Given the description of an element on the screen output the (x, y) to click on. 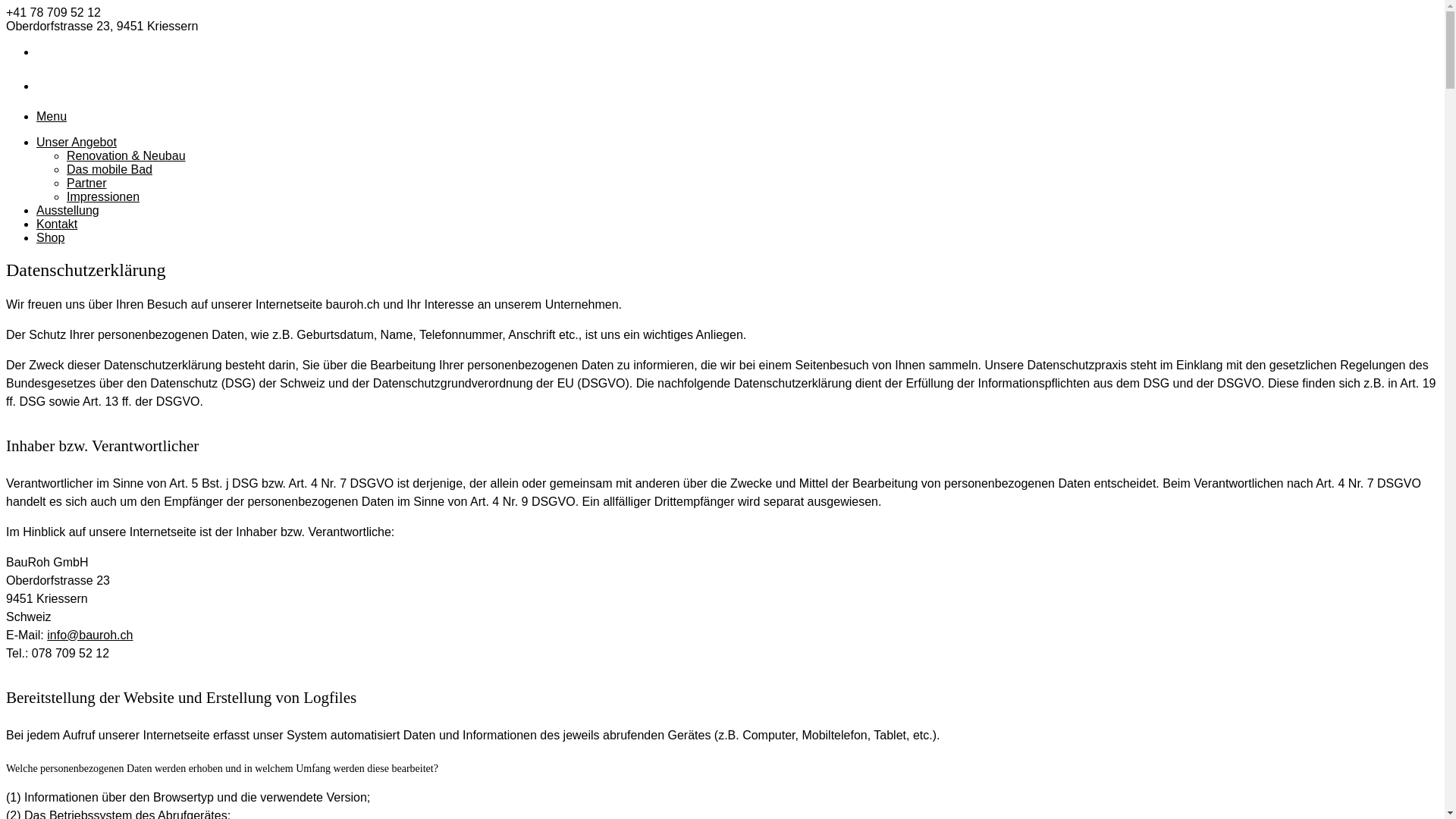
Kontakt Element type: text (56, 223)
Partner Element type: text (86, 182)
Renovation & Neubau Element type: text (125, 155)
Menu Element type: text (51, 115)
Ausstellung Element type: text (67, 209)
Shop Element type: text (50, 237)
Das mobile Bad Element type: text (109, 169)
info@bauroh.ch Element type: text (89, 634)
Impressionen Element type: text (102, 196)
Unser Angebot Element type: text (76, 141)
